Given the description of an element on the screen output the (x, y) to click on. 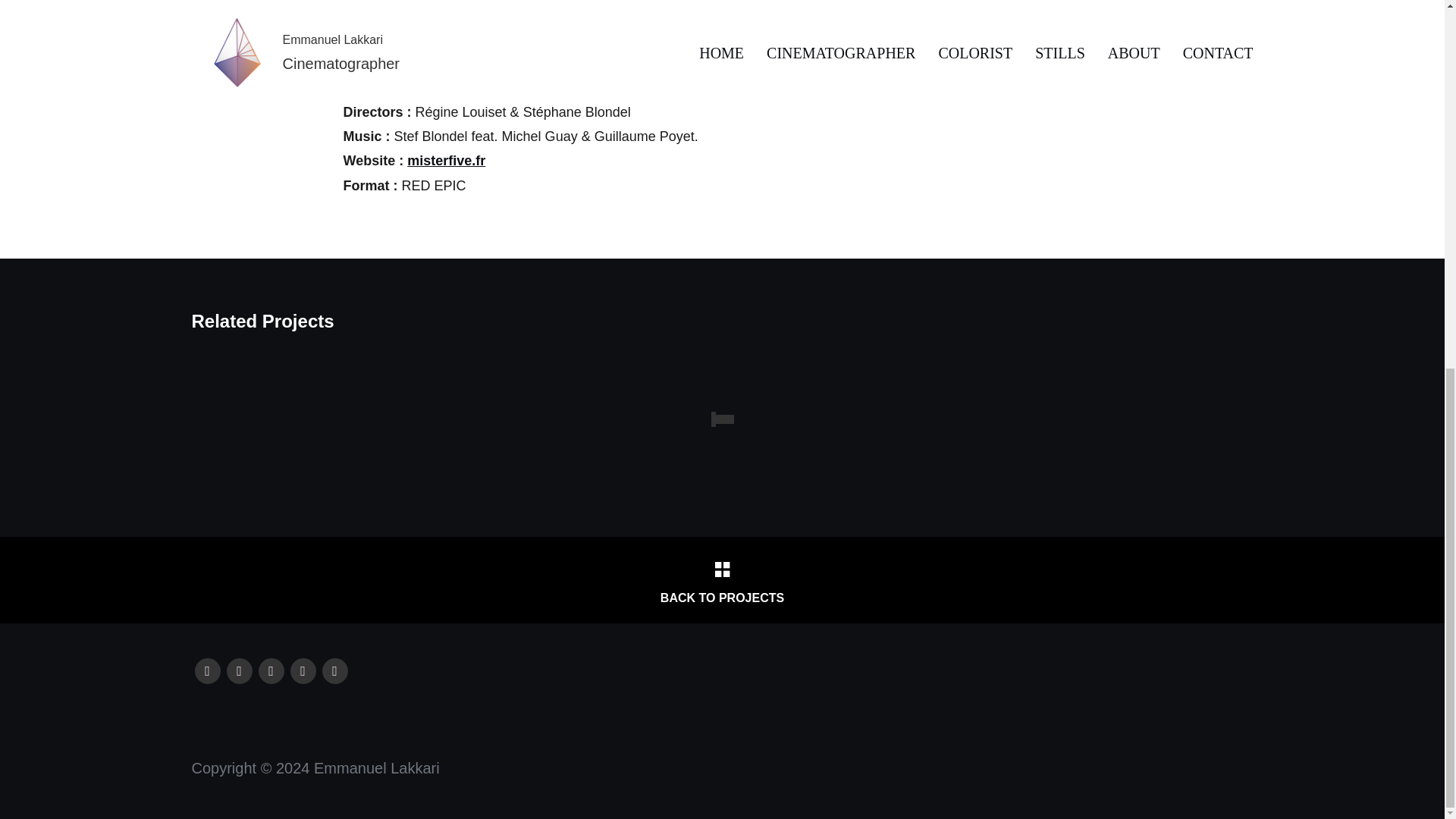
Instagram (238, 669)
behance (302, 669)
facebook (206, 669)
Default Label (334, 669)
Behance (302, 669)
BACK TO PROJECTS (721, 580)
Linkedin (270, 669)
linkedin (270, 669)
Facebook (206, 669)
instagram (238, 669)
threads (334, 669)
misterfive.fr (445, 160)
